Given the description of an element on the screen output the (x, y) to click on. 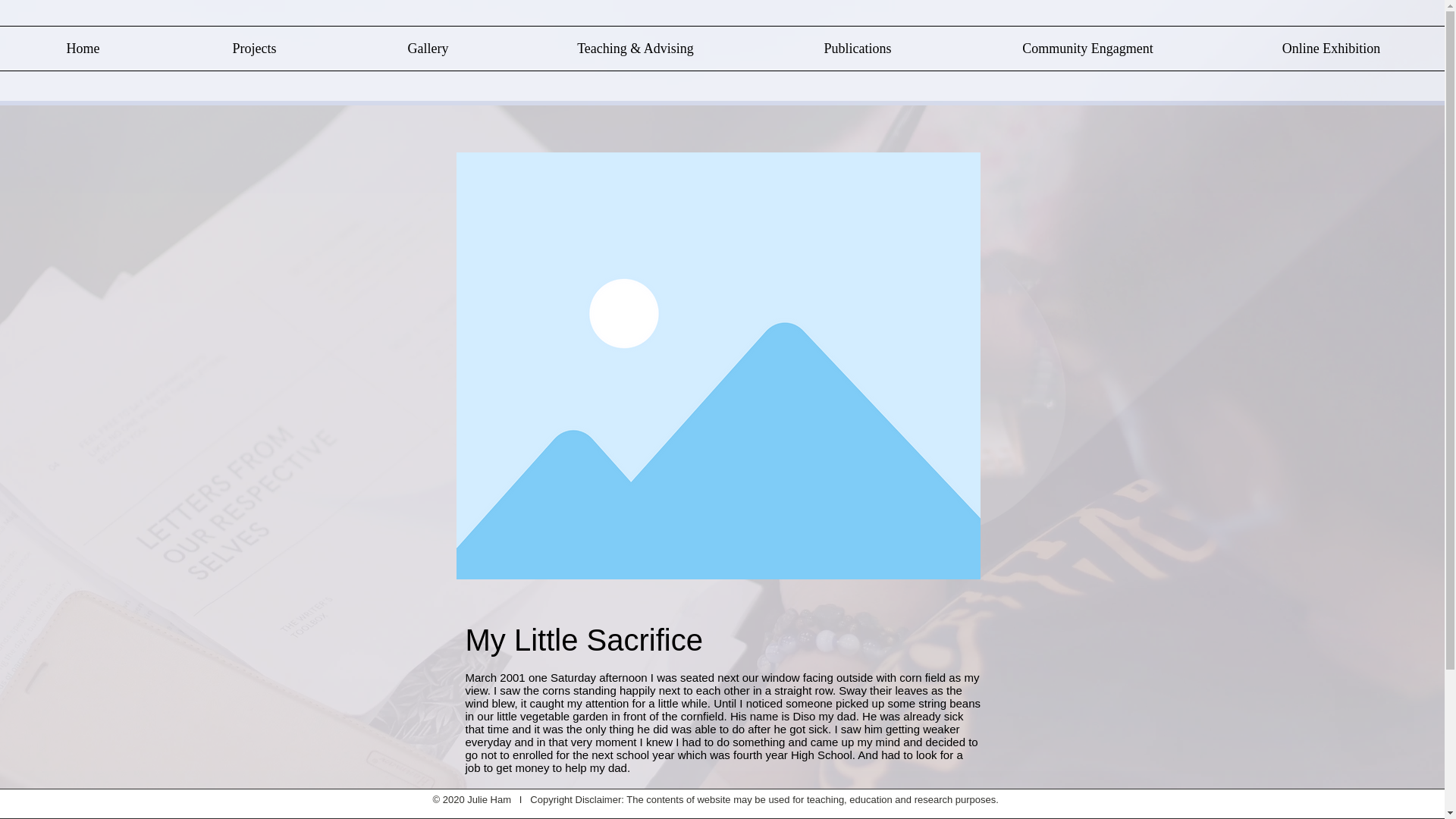
Community Engagment (1087, 48)
Home (82, 48)
Projects (253, 48)
Publications (857, 48)
Gallery (427, 48)
